Given the description of an element on the screen output the (x, y) to click on. 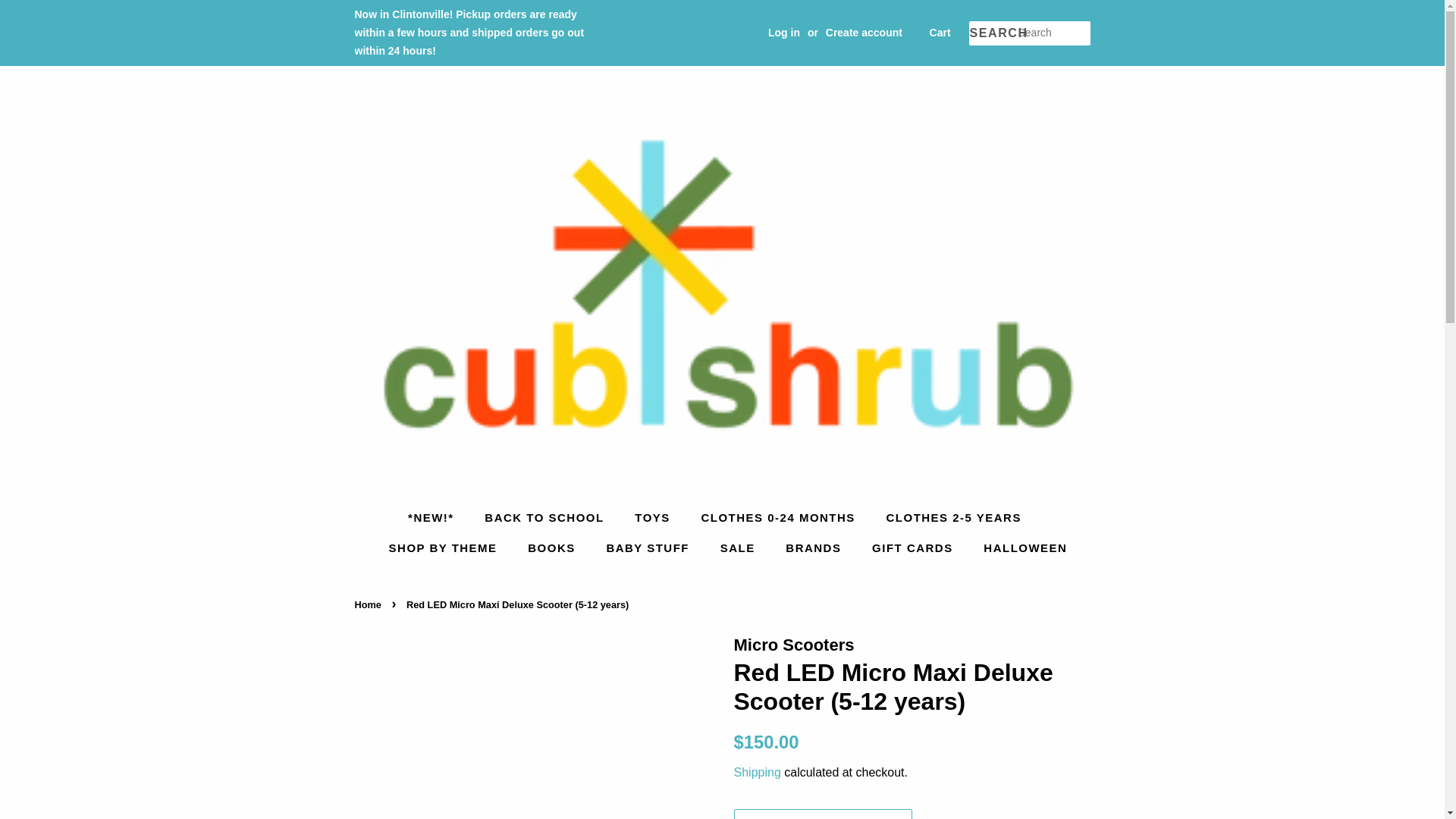
Cart (940, 33)
SEARCH (993, 33)
Create account (863, 32)
Back to the frontpage (370, 604)
Log in (783, 32)
